Given the description of an element on the screen output the (x, y) to click on. 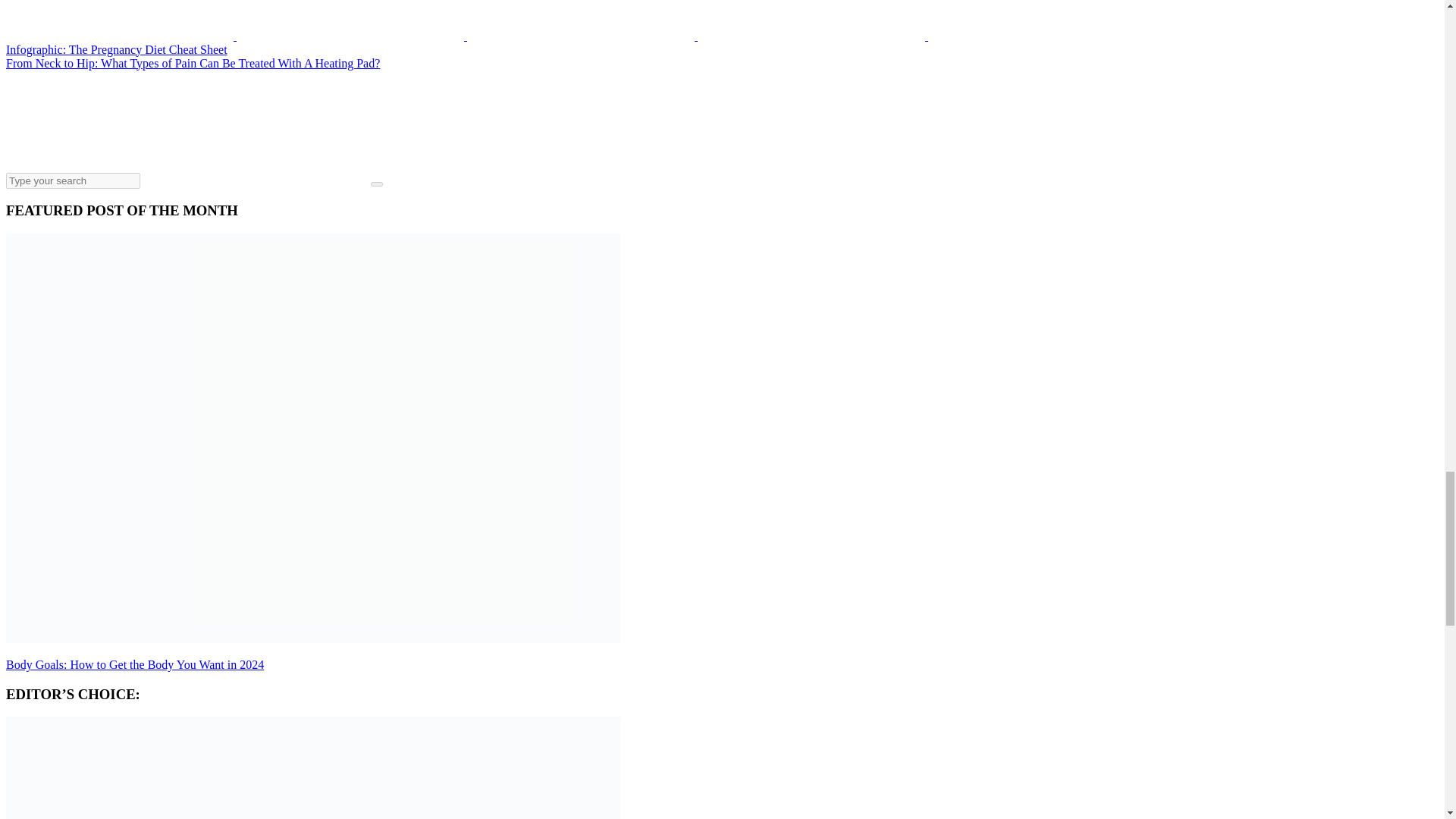
Share on Twitter (120, 35)
